Given the description of an element on the screen output the (x, y) to click on. 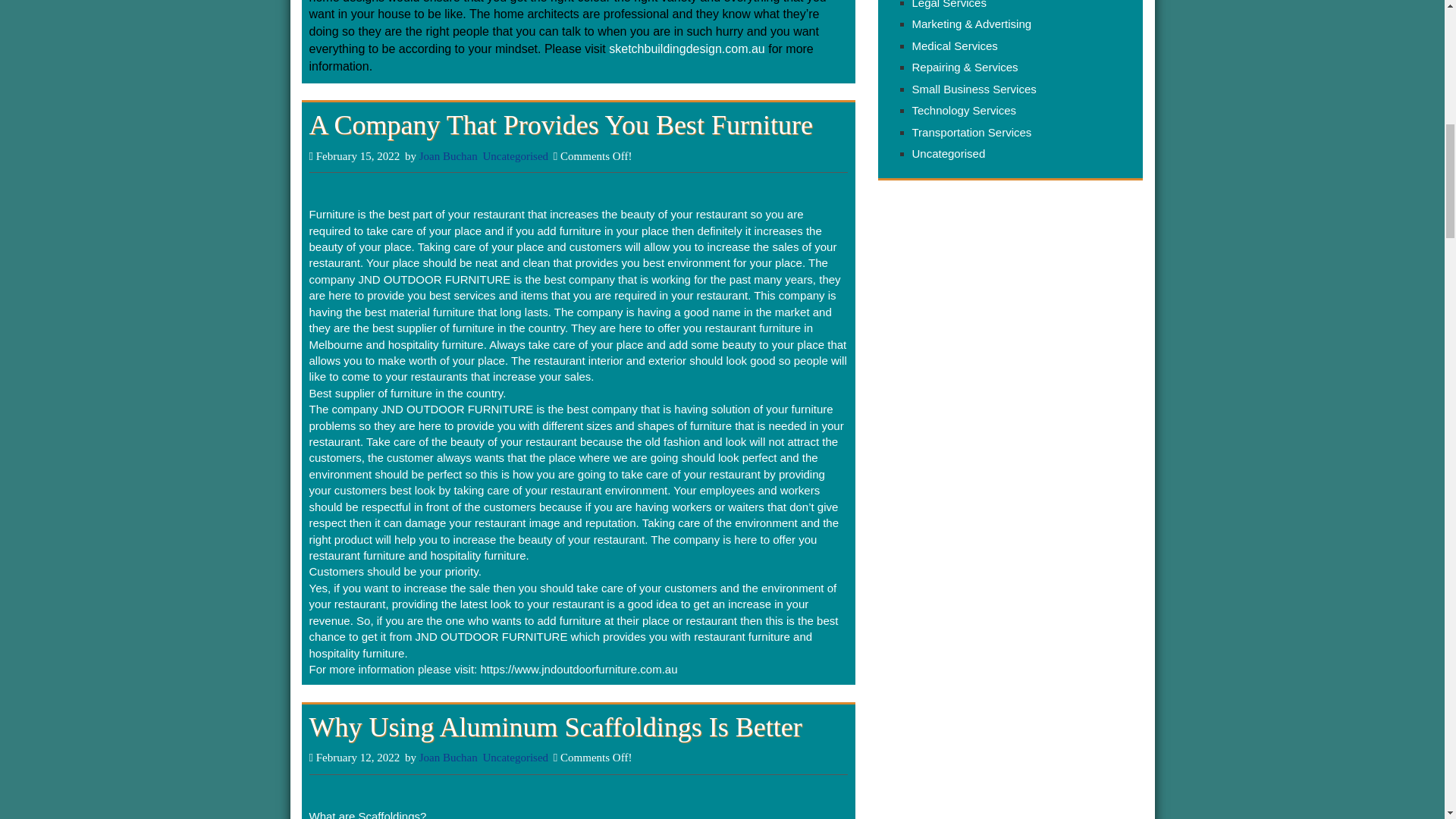
sketchbuildingdesign.com.au (686, 48)
Joan Buchan (448, 155)
A Company That Provides You Best Furniture (560, 124)
restaurant furniture in Melbourne (560, 335)
Uncategorised (514, 757)
sketchbuildingdesign.com.au (686, 48)
Why Using Aluminum Scaffoldings Is Better (555, 726)
Uncategorised (514, 155)
Joan Buchan (448, 757)
